Given the description of an element on the screen output the (x, y) to click on. 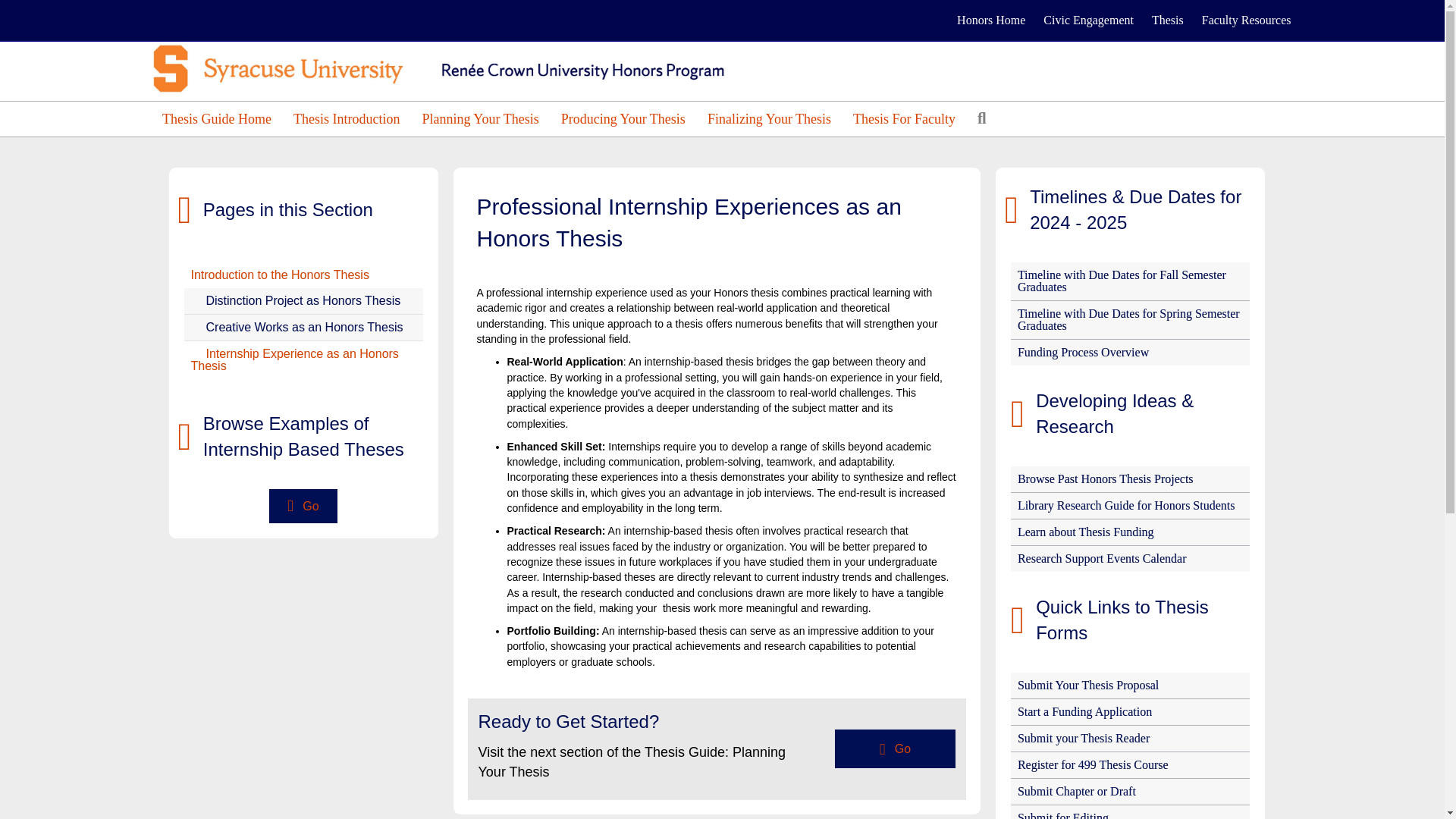
Search (984, 118)
Planning Your Thesis (479, 118)
Go (894, 748)
Go (302, 505)
Faculty Resources (1245, 20)
Introduction to the Honors Thesis (302, 275)
Finalizing Your Thesis (769, 118)
Thesis (1167, 20)
Civic Engagement (1088, 20)
Crown-text-treatment-logo (454, 68)
